Given the description of an element on the screen output the (x, y) to click on. 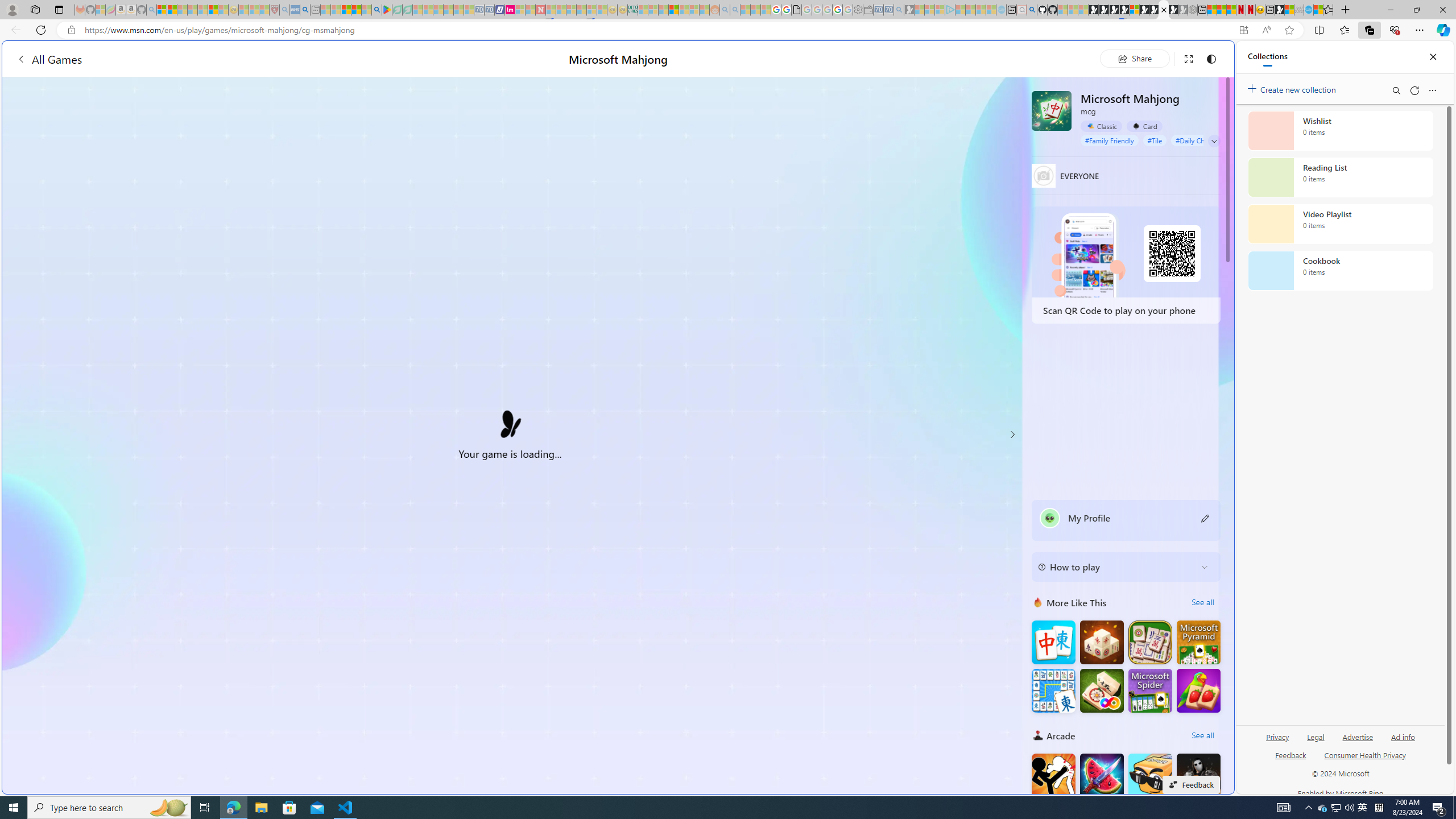
""'s avatar (1049, 518)
#Daily Challenge (1200, 140)
Class: expand-arrow neutral (1214, 141)
